Given the description of an element on the screen output the (x, y) to click on. 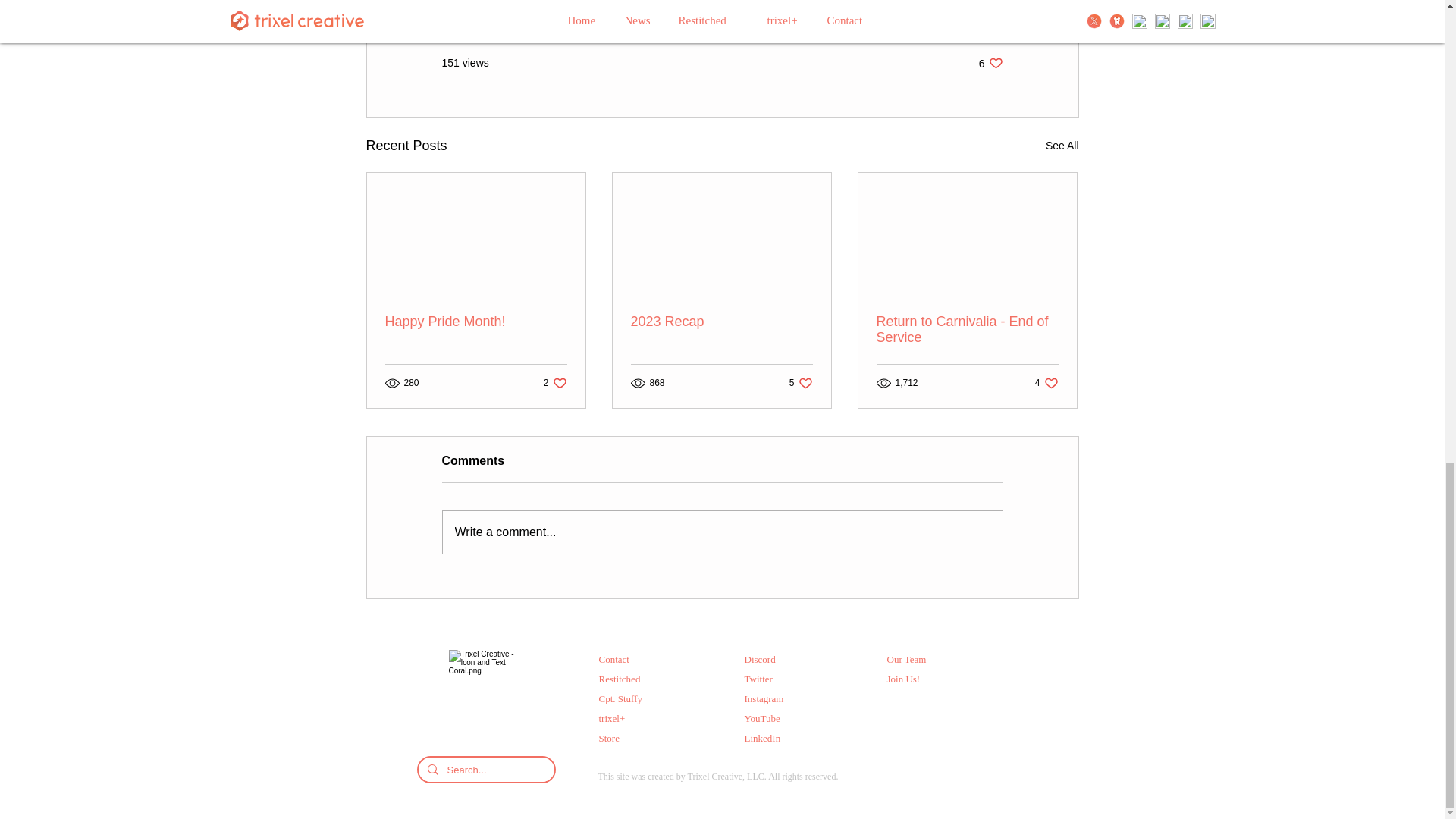
See All (1061, 146)
Happy Pride Month! (476, 321)
2023 Recap (800, 382)
News (721, 321)
Trixel Creative Logo - Stacked.png (989, 18)
